Given the description of an element on the screen output the (x, y) to click on. 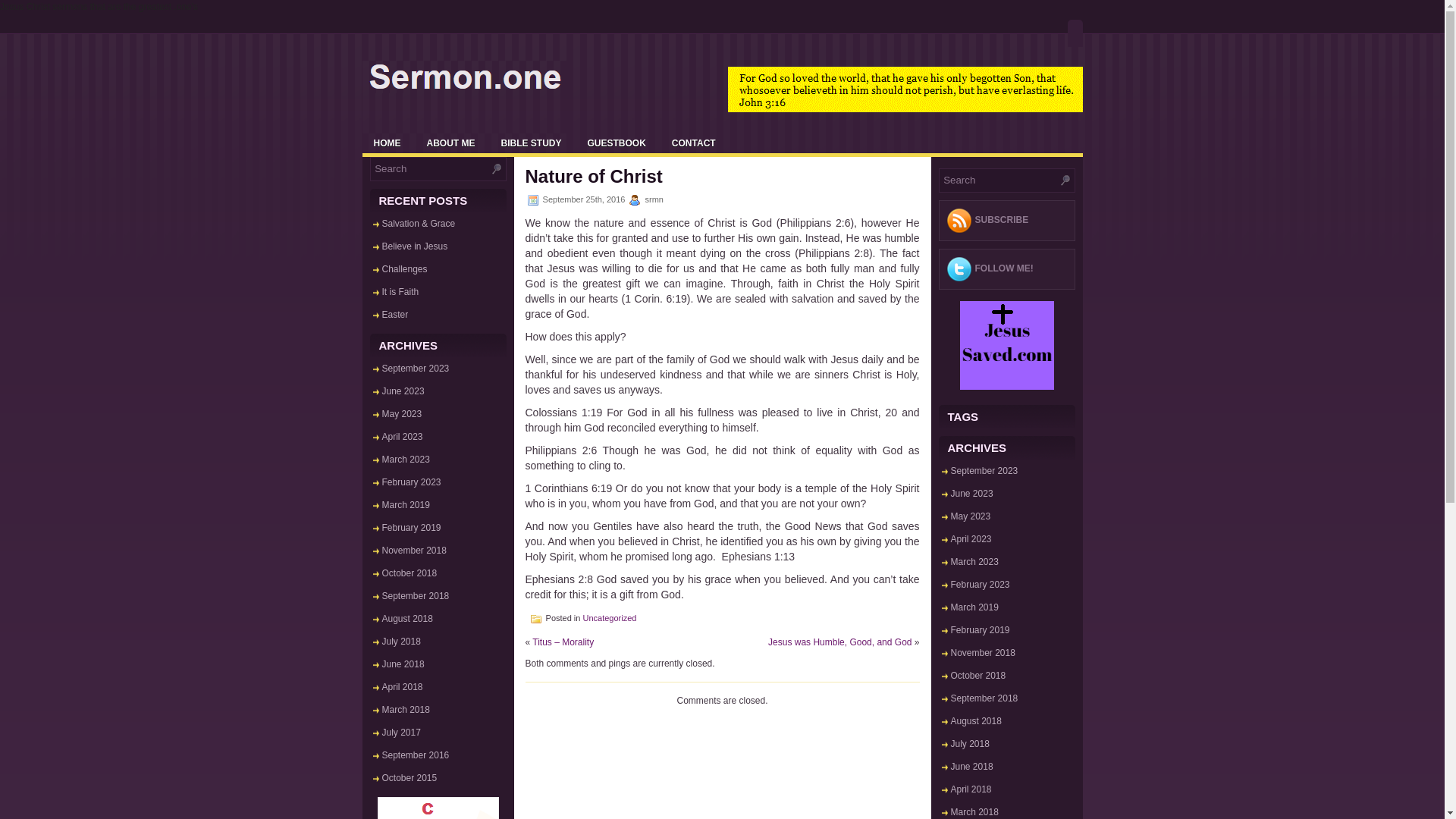
Search (996, 180)
It is Faith (400, 291)
July 2017 (400, 732)
August 2018 (406, 618)
Believe in Jesus (414, 245)
GUESTBOOK (617, 143)
FOLLOW ME! (1004, 267)
May 2023 (401, 413)
Uncategorized (609, 617)
September 2018 (415, 595)
